Given the description of an element on the screen output the (x, y) to click on. 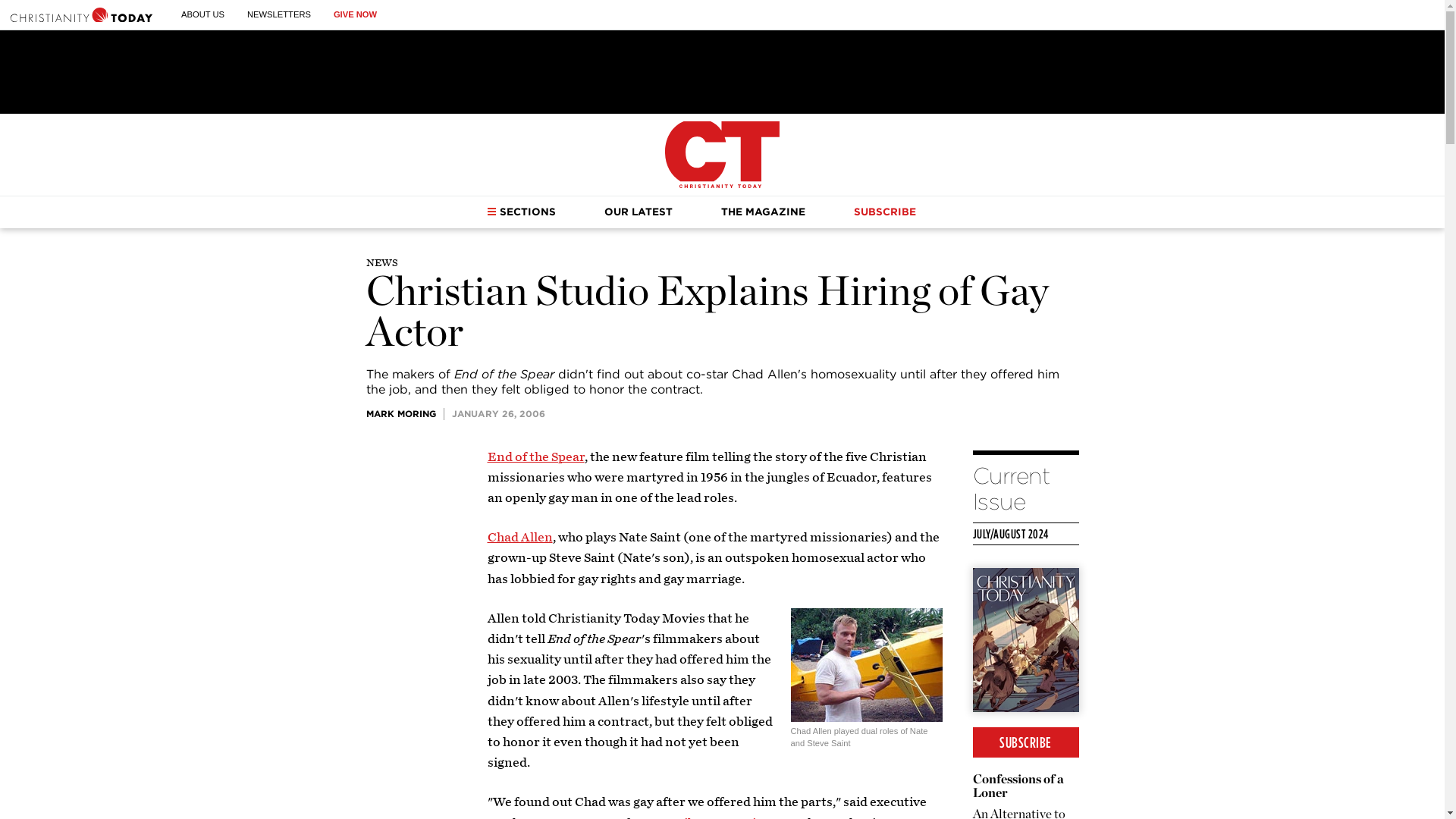
NEWSLETTERS (278, 14)
3rd party ad content (721, 71)
SECTIONS (521, 212)
Sections Dropdown (491, 211)
Christianity Today (721, 154)
GIVE NOW (355, 14)
ABOUT US (202, 14)
Christianity Today (81, 14)
